Given the description of an element on the screen output the (x, y) to click on. 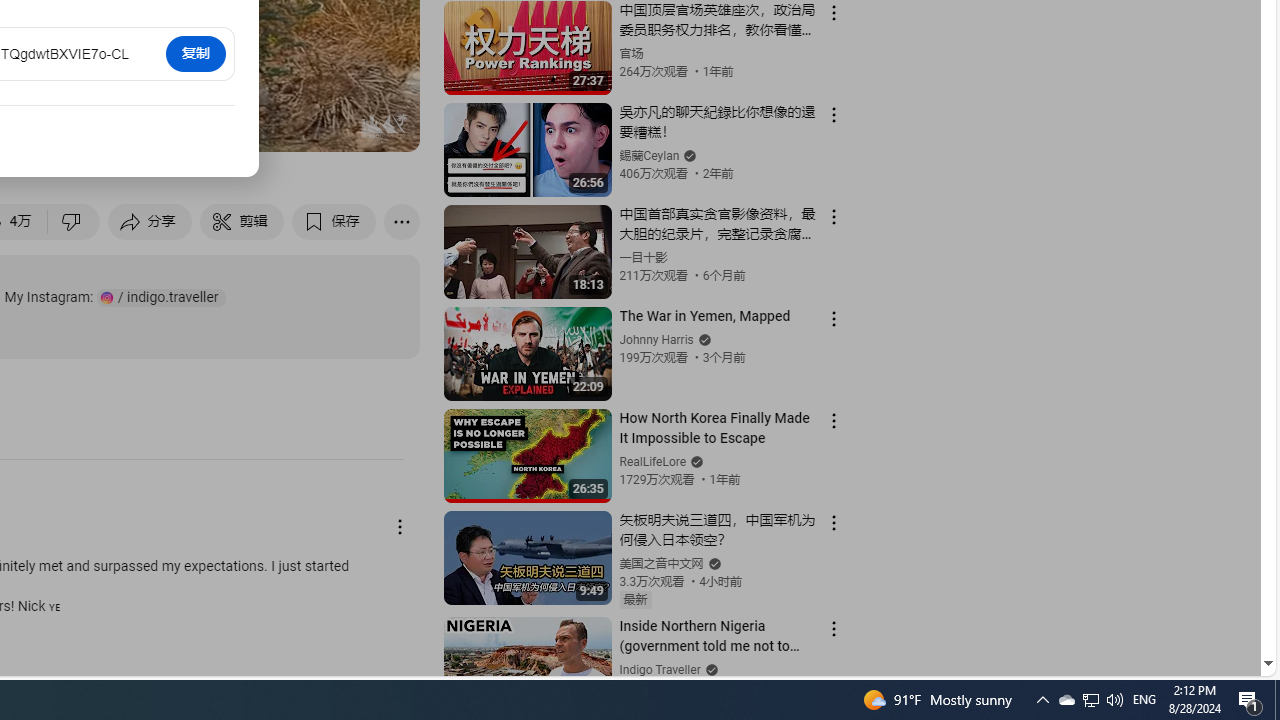
Instagram Channel Link: indigo.traveller (161, 297)
Class: ytp-subtitles-button-icon (190, 127)
